Given the description of an element on the screen output the (x, y) to click on. 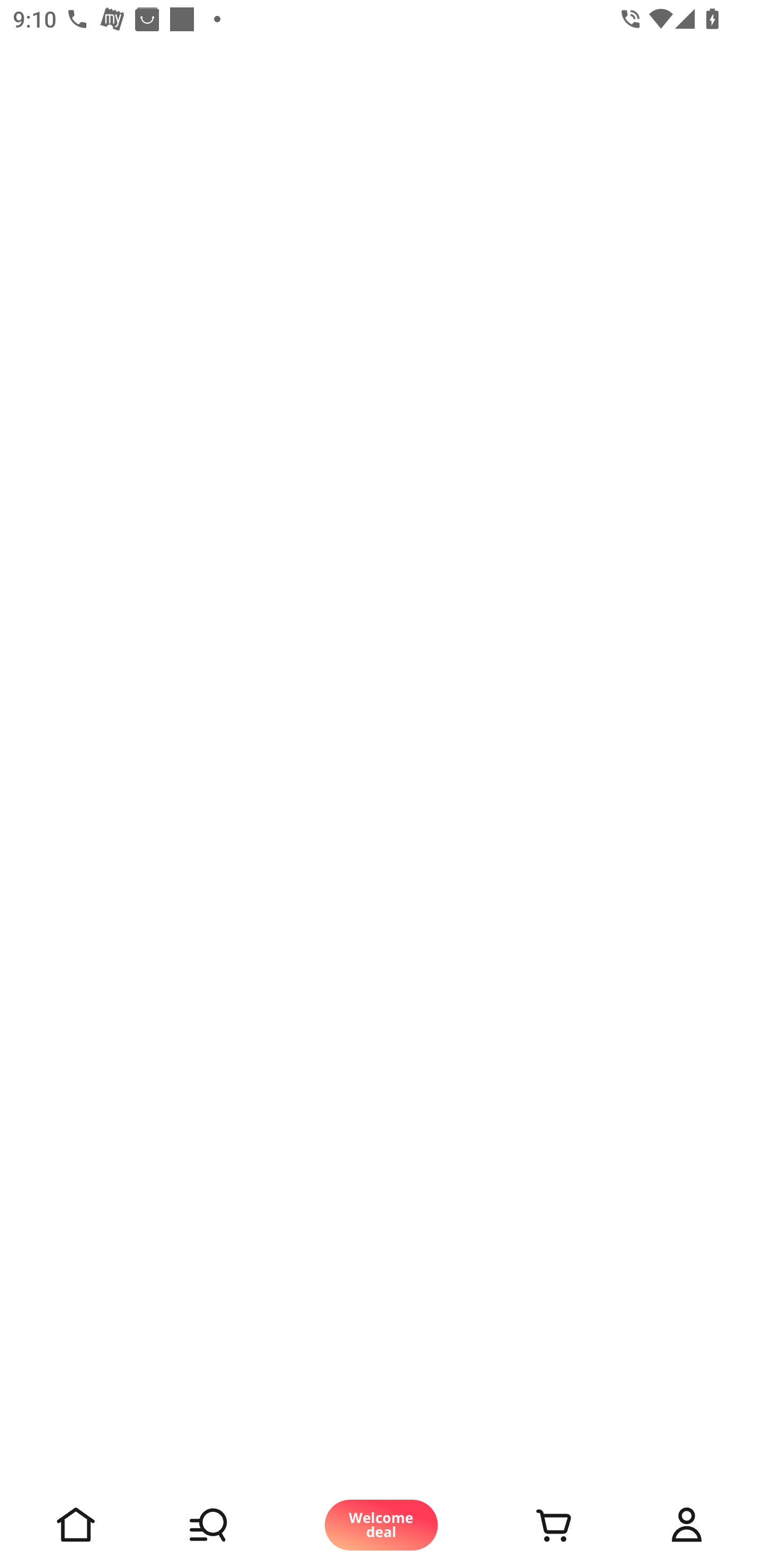
Home (76, 1524)
Shop (228, 1524)
Cart (533, 1524)
Account (686, 1524)
